Given the description of an element on the screen output the (x, y) to click on. 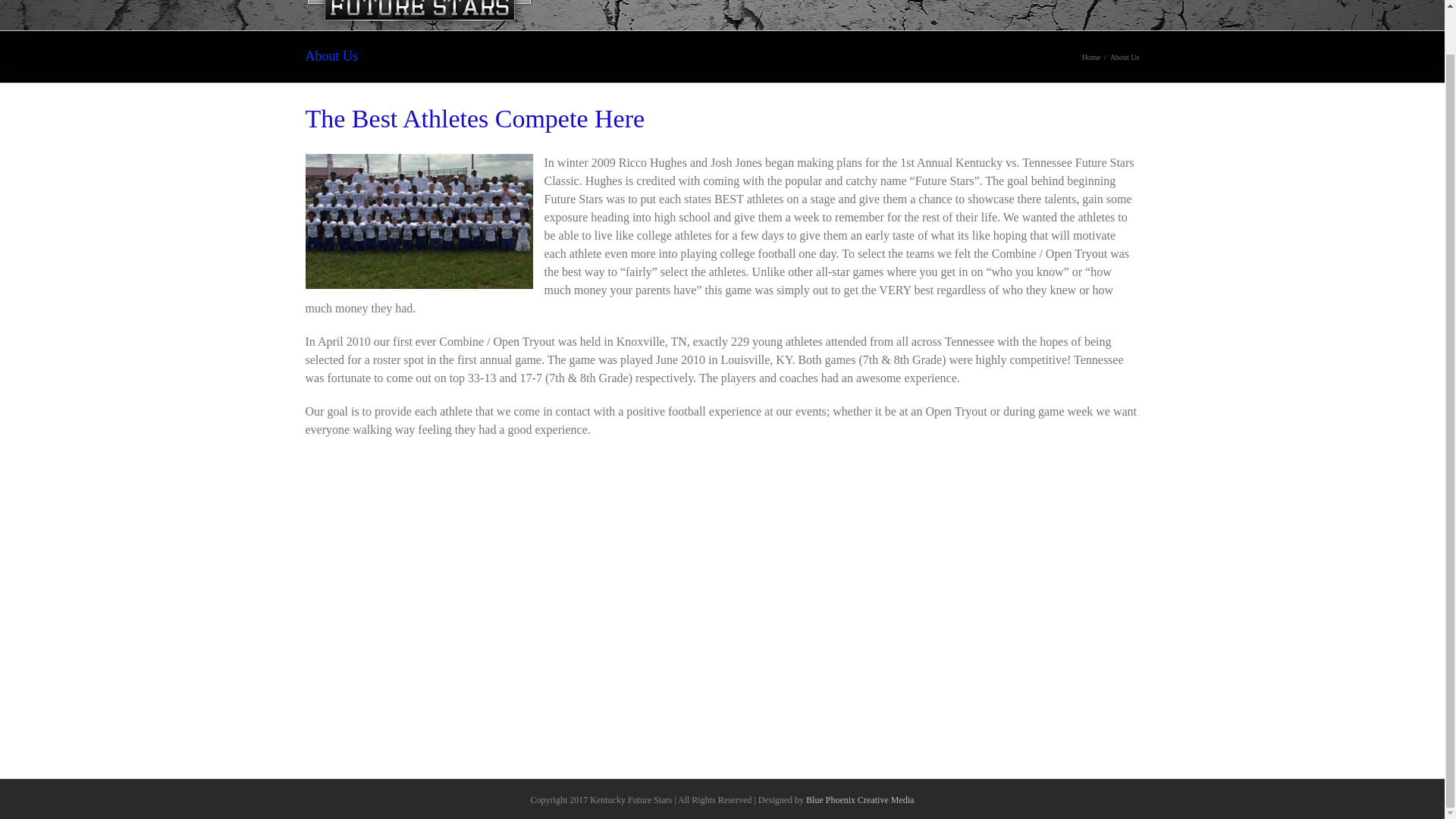
HOME (652, 9)
Register (710, 9)
Results (936, 9)
Tryouts (768, 9)
Contact (1094, 9)
About (1041, 9)
Teams (822, 9)
YouTube video player (938, 601)
Calendar (879, 9)
Videos (990, 9)
YouTube video player (504, 601)
